Given the description of an element on the screen output the (x, y) to click on. 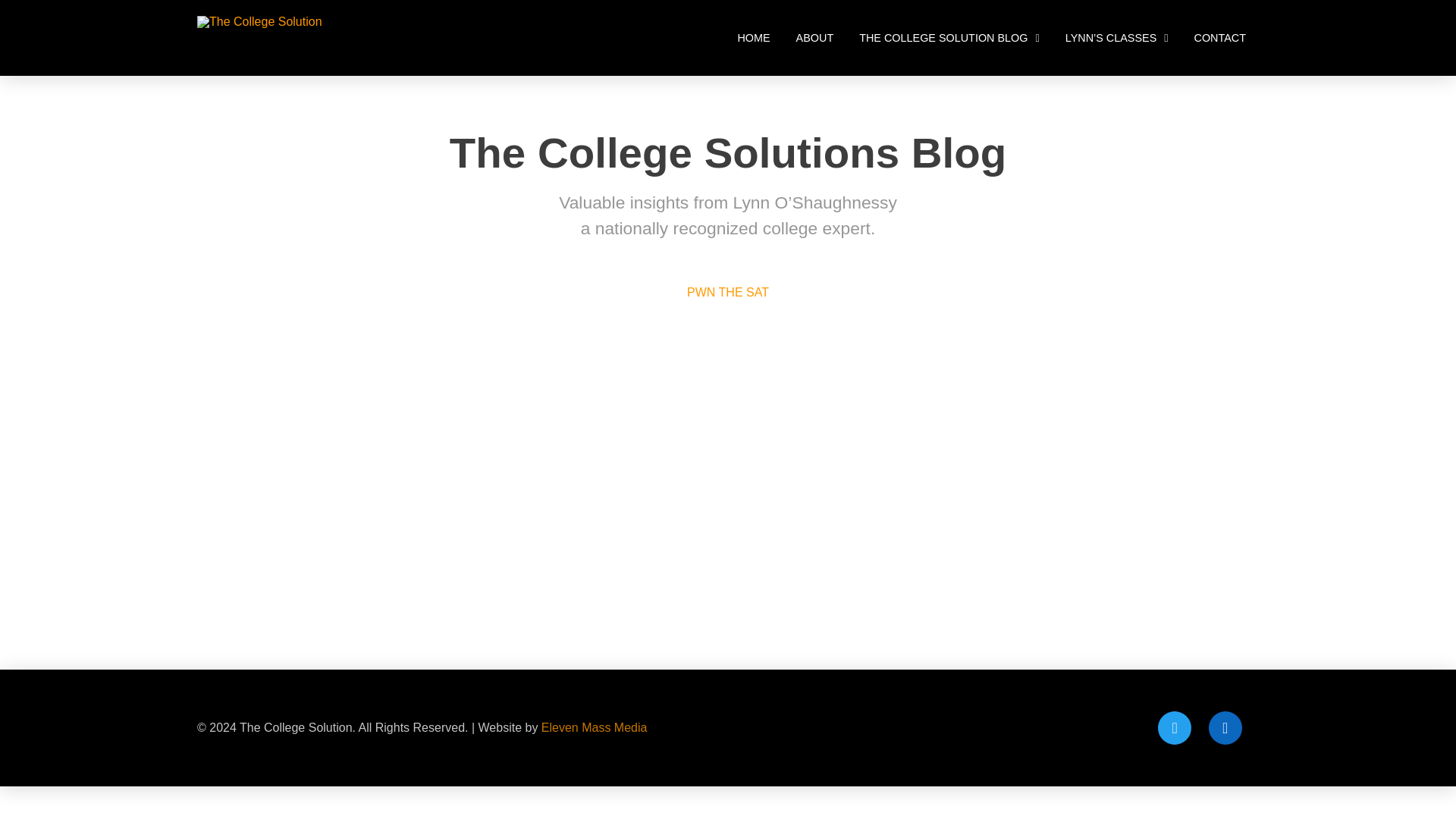
CONTACT (1219, 37)
Eleven Mass Media (594, 727)
HOME (753, 37)
ABOUT (815, 37)
THE COLLEGE SOLUTION BLOG (948, 37)
